Given the description of an element on the screen output the (x, y) to click on. 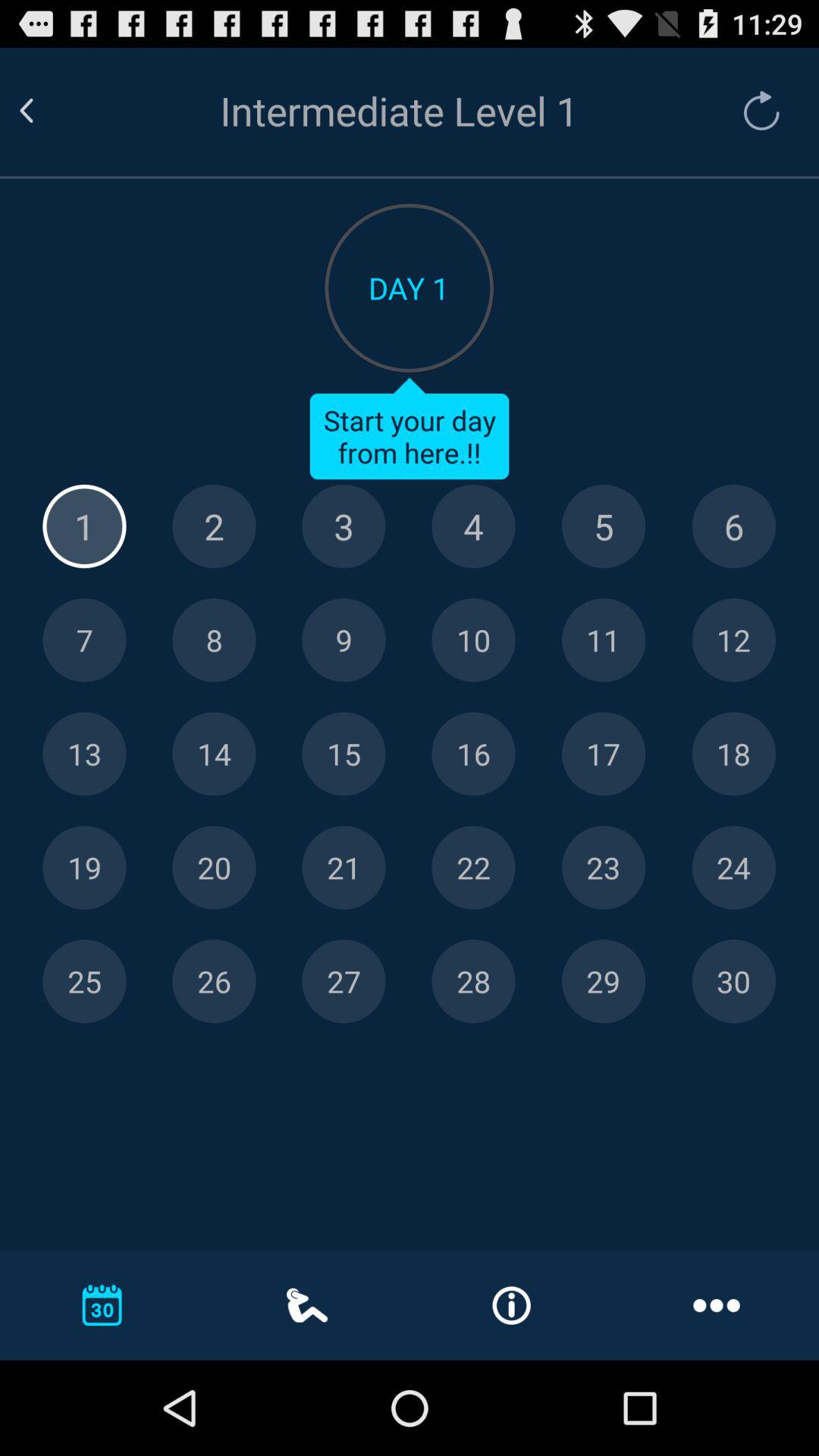
day 29 (603, 981)
